Given the description of an element on the screen output the (x, y) to click on. 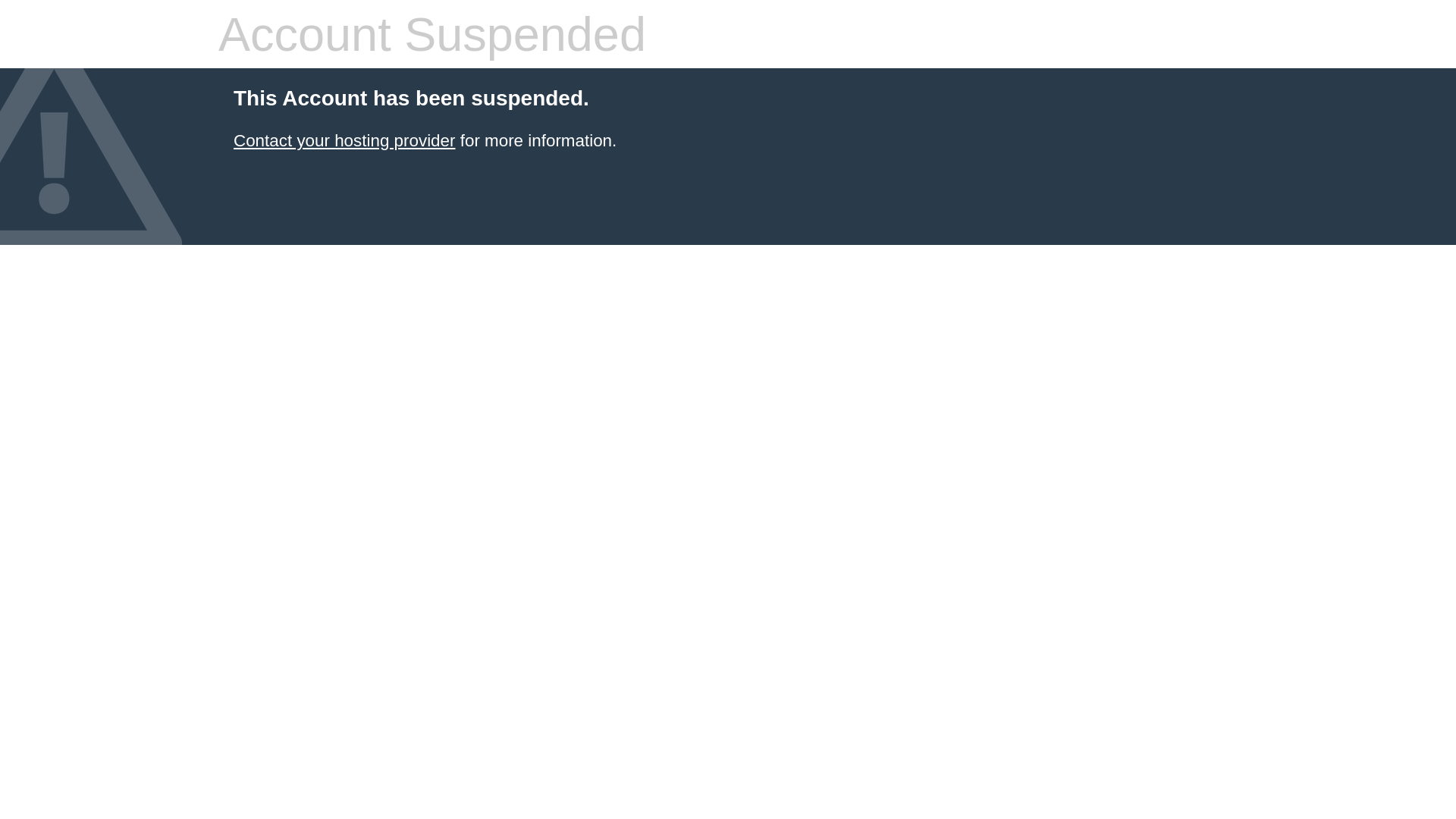
Contact your hosting provider Element type: text (344, 140)
